Given the description of an element on the screen output the (x, y) to click on. 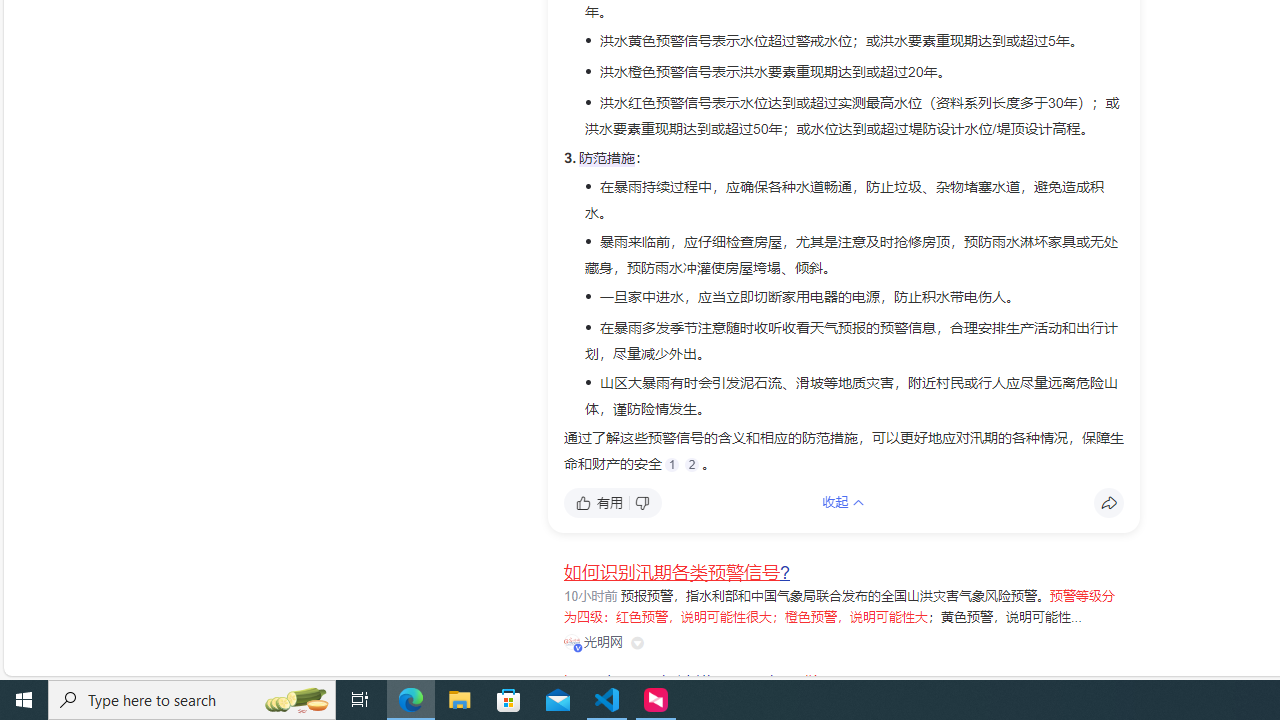
Class: siteLink_9TPP3 (593, 642)
Class: vip-icon_kNmNt (577, 647)
